Given the description of an element on the screen output the (x, y) to click on. 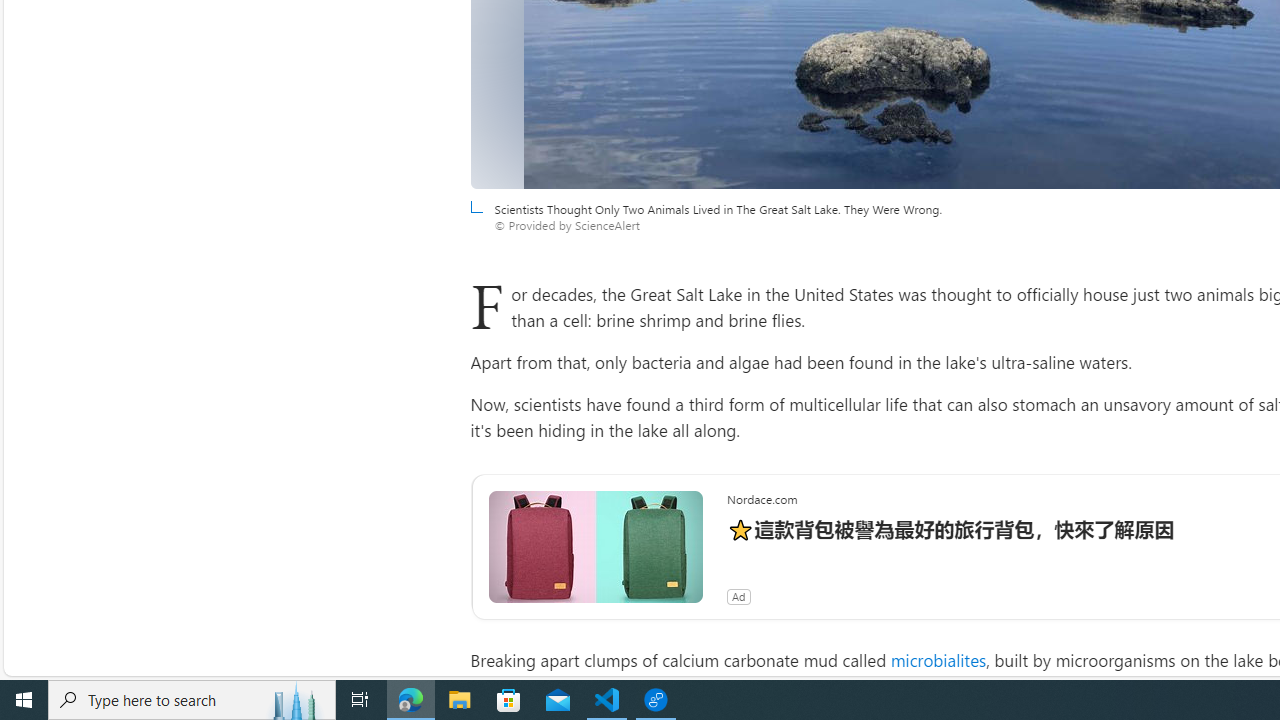
microbialites (937, 659)
Ad (738, 596)
